Given the description of an element on the screen output the (x, y) to click on. 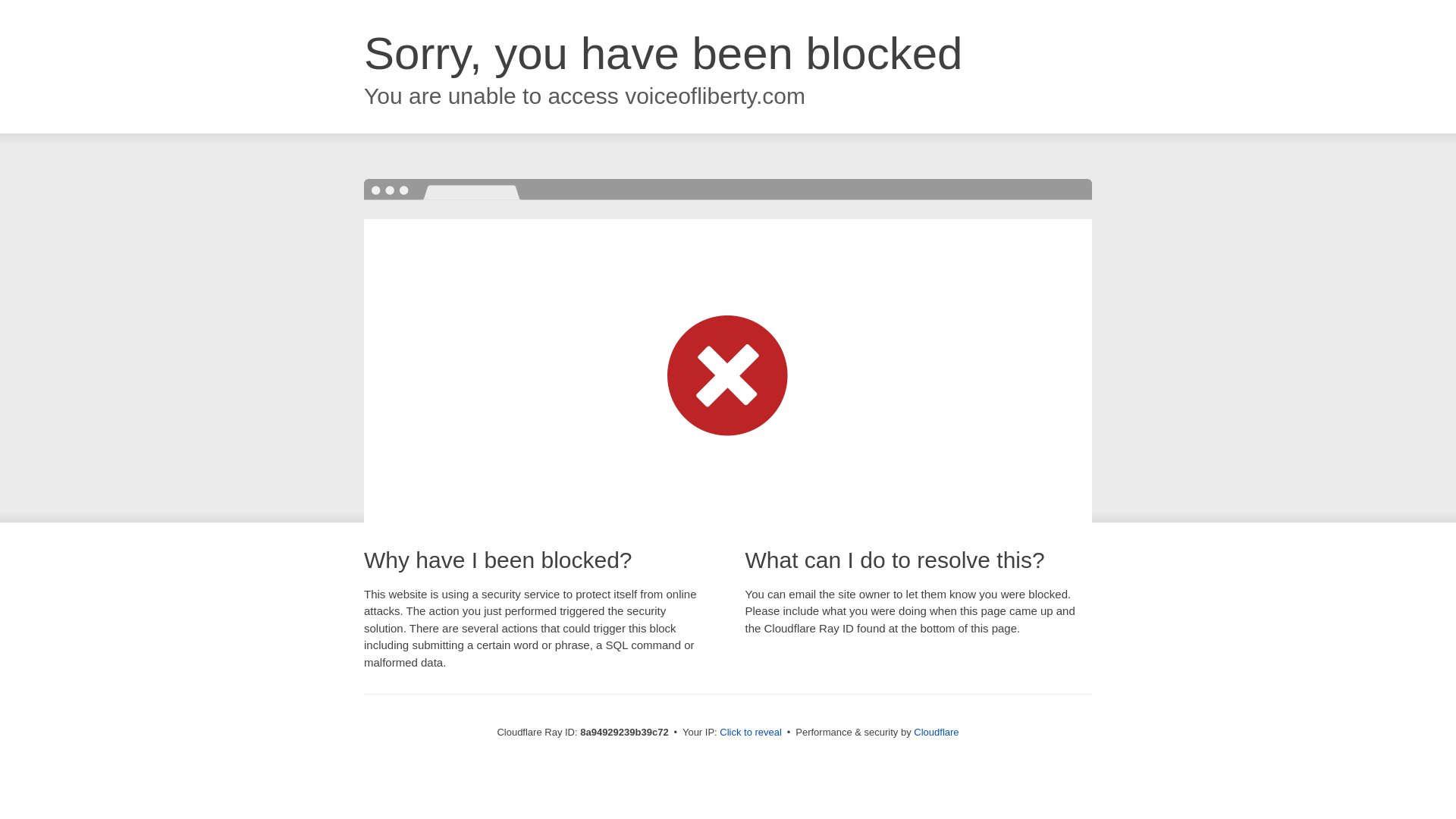
Cloudflare (936, 731)
Click to reveal (750, 732)
